Given the description of an element on the screen output the (x, y) to click on. 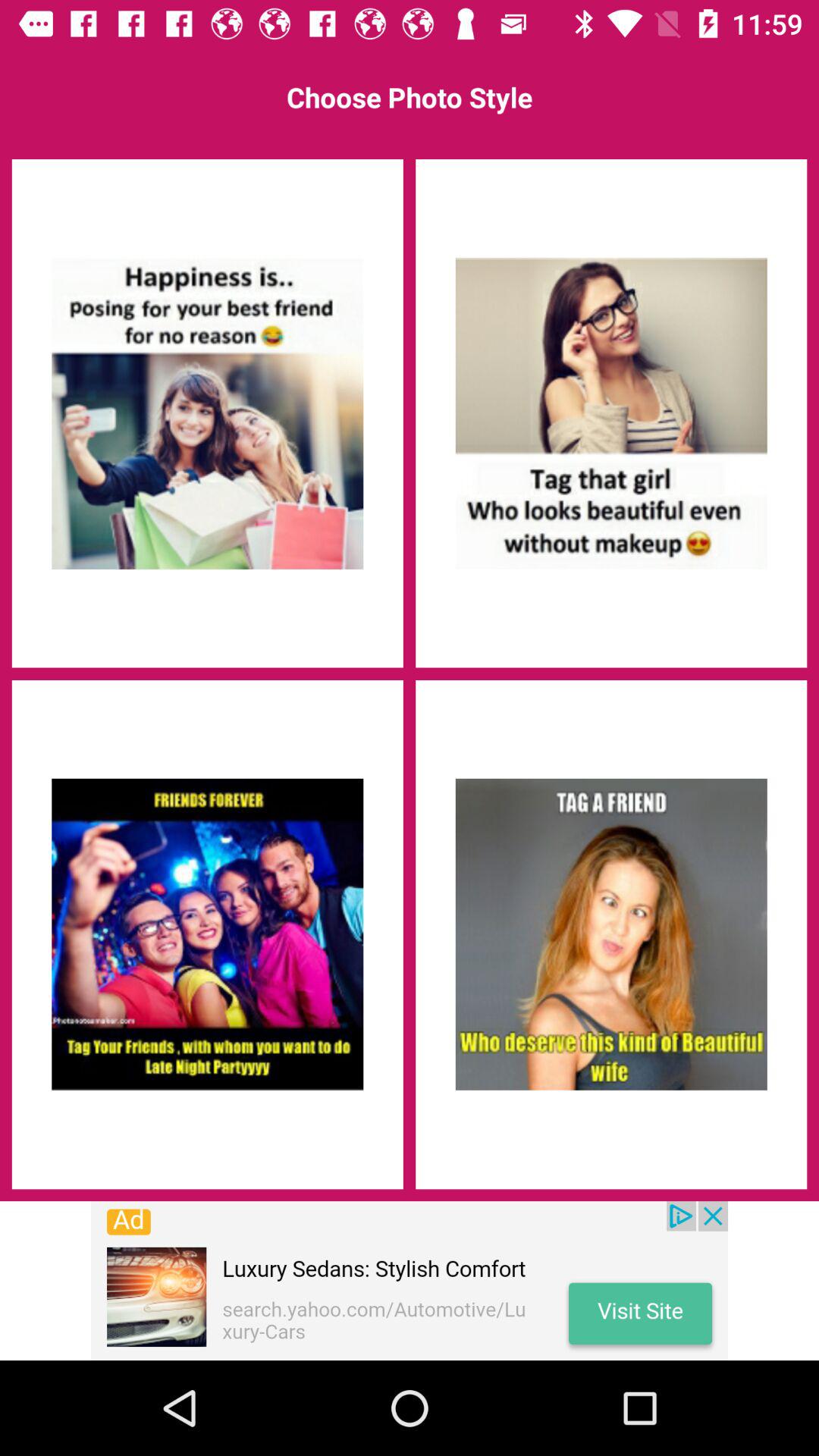
tag that girl who looks beautiful even without makeup (611, 413)
